Given the description of an element on the screen output the (x, y) to click on. 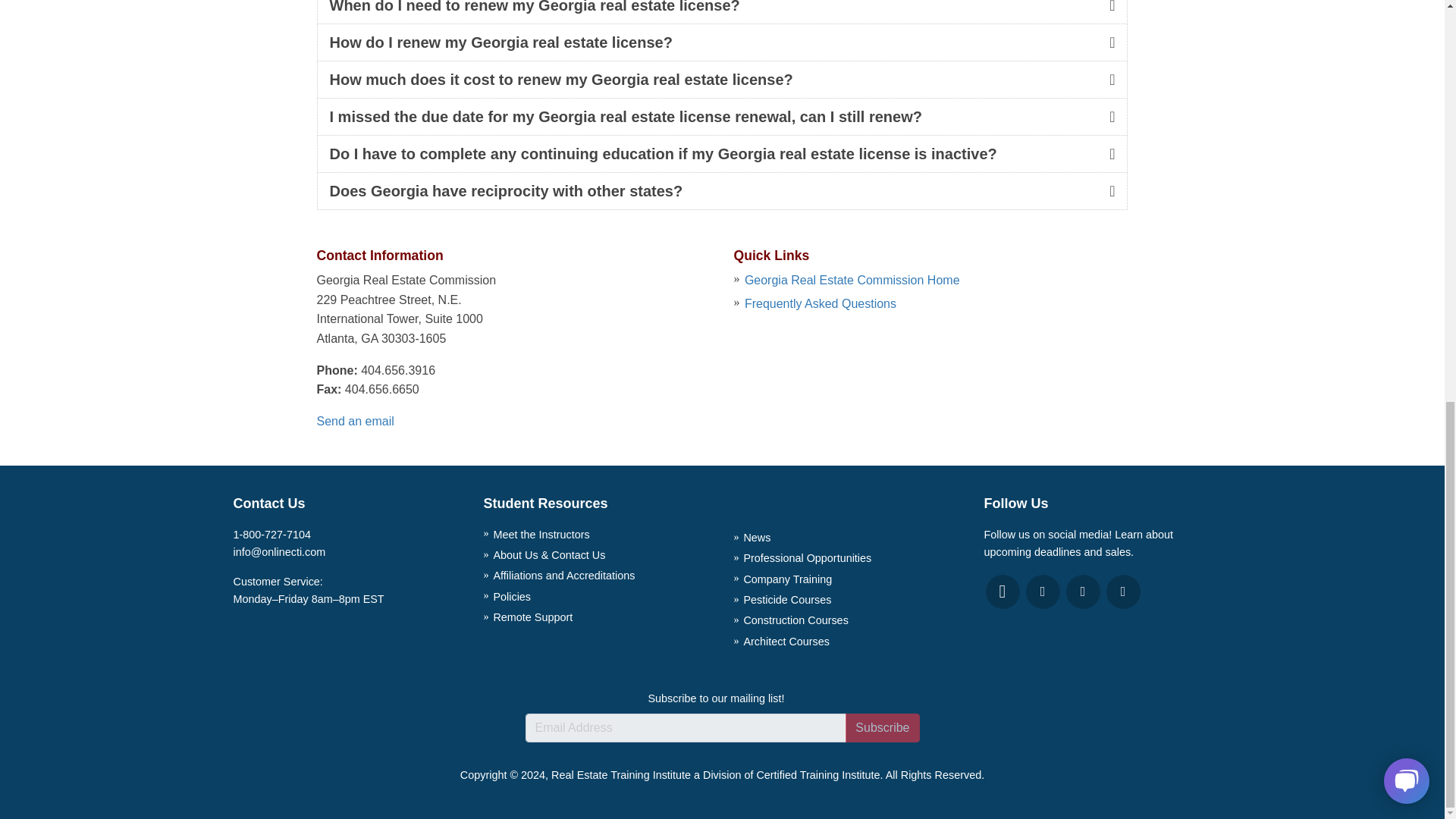
Connect with Us on LinkedIn (1042, 591)
Follow Us on Twitter (1082, 591)
Follow Us on YouTube (1002, 591)
Like Us on Facebook (1122, 591)
